Given the description of an element on the screen output the (x, y) to click on. 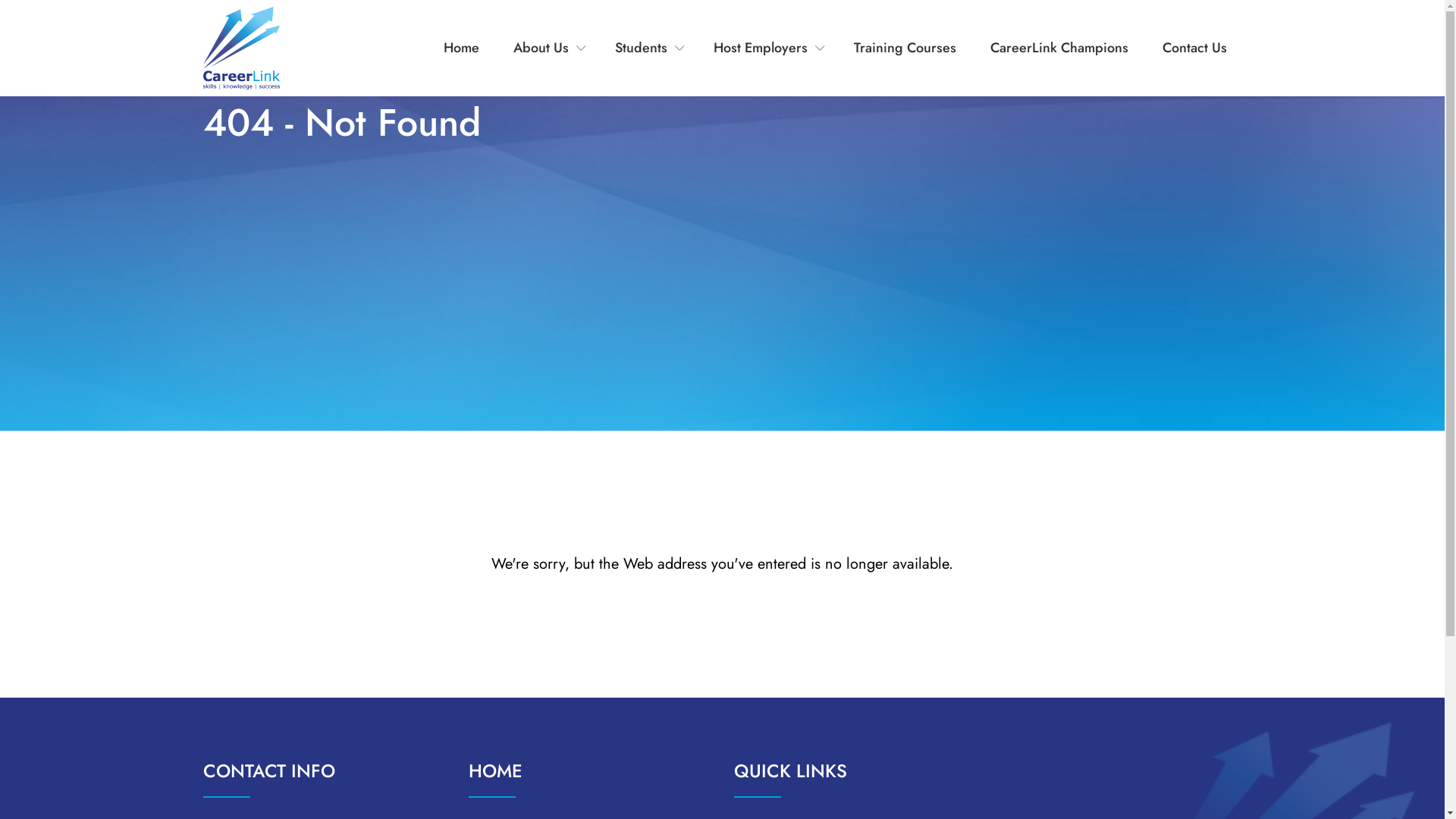
QUICK LINKS Element type: text (790, 770)
Students Element type: text (641, 48)
About Us Element type: text (541, 48)
CareerLink Champions Element type: text (1059, 48)
Host Employers Element type: text (761, 48)
Training Courses Element type: text (904, 48)
HOME Element type: text (495, 770)
Home Element type: text (460, 48)
Contact Us Element type: text (1193, 48)
CareerLink Element type: hover (241, 47)
